Given the description of an element on the screen output the (x, y) to click on. 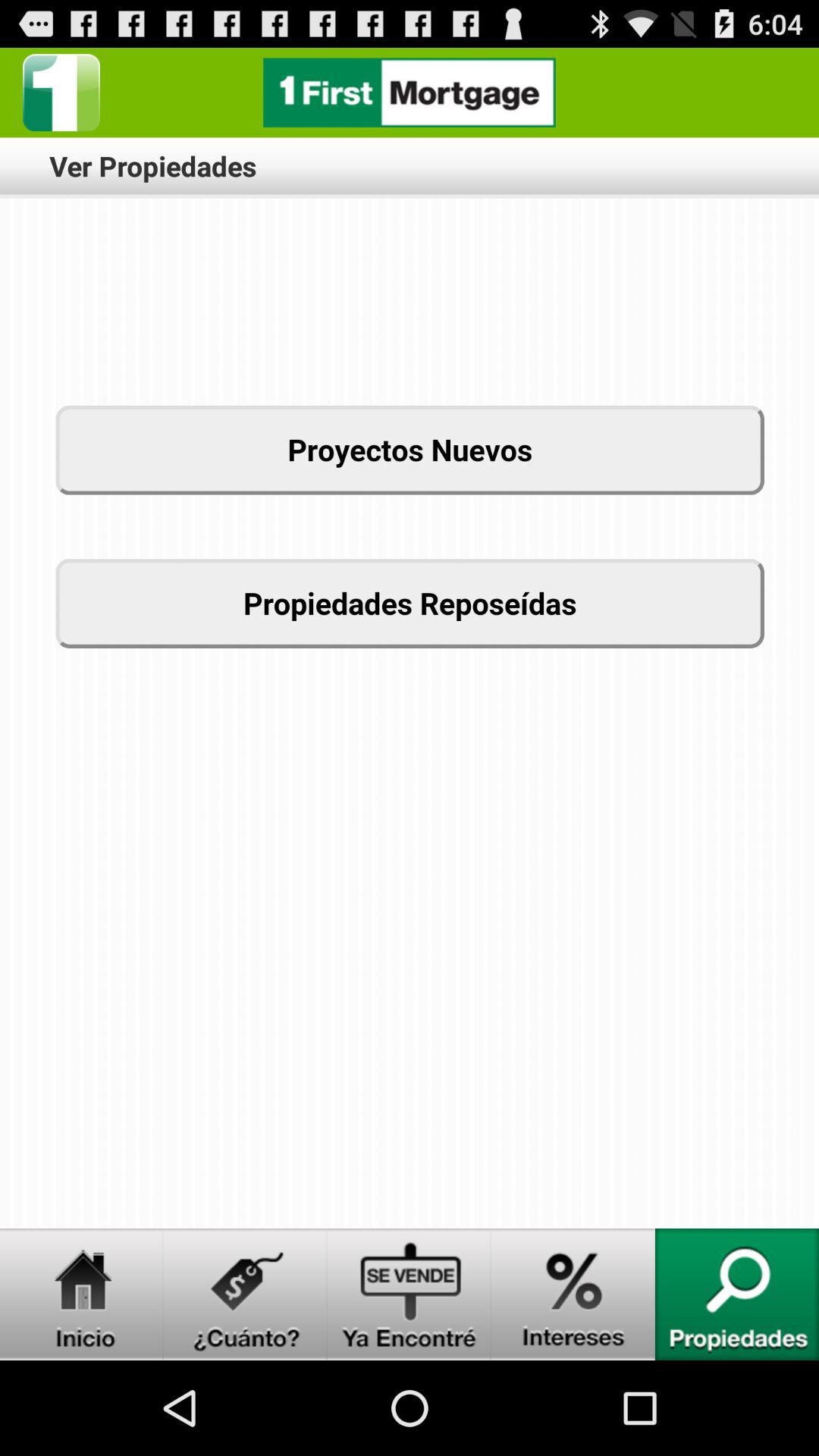
ya encontre (409, 1294)
